Given the description of an element on the screen output the (x, y) to click on. 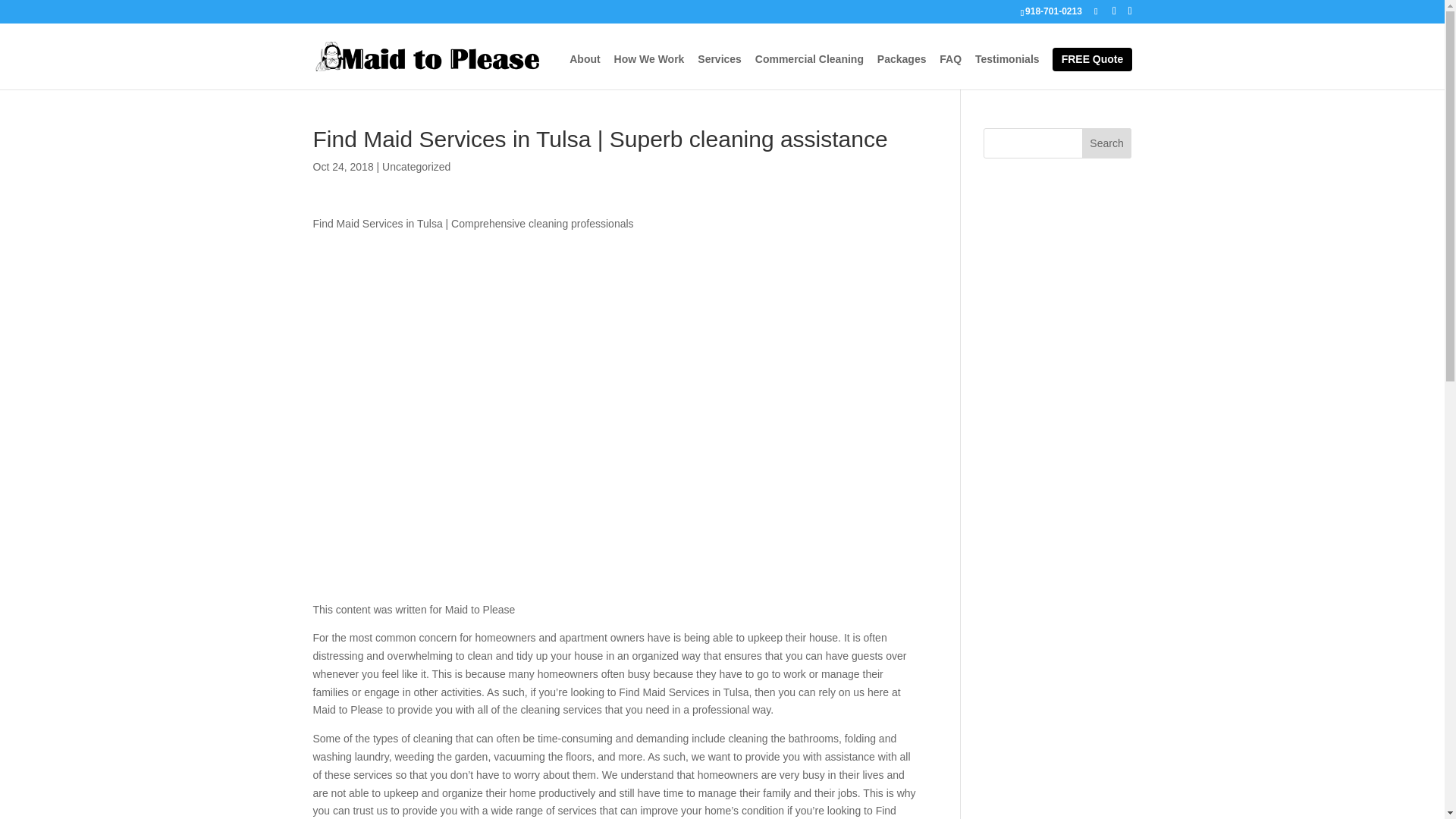
Commercial Cleaning (809, 71)
How We Work (649, 71)
Search (1106, 142)
FREE Quote (1091, 59)
Packages (901, 71)
918-701-0213 (1050, 10)
Search (1106, 142)
Testimonials (1007, 71)
Services (719, 71)
